Given the description of an element on the screen output the (x, y) to click on. 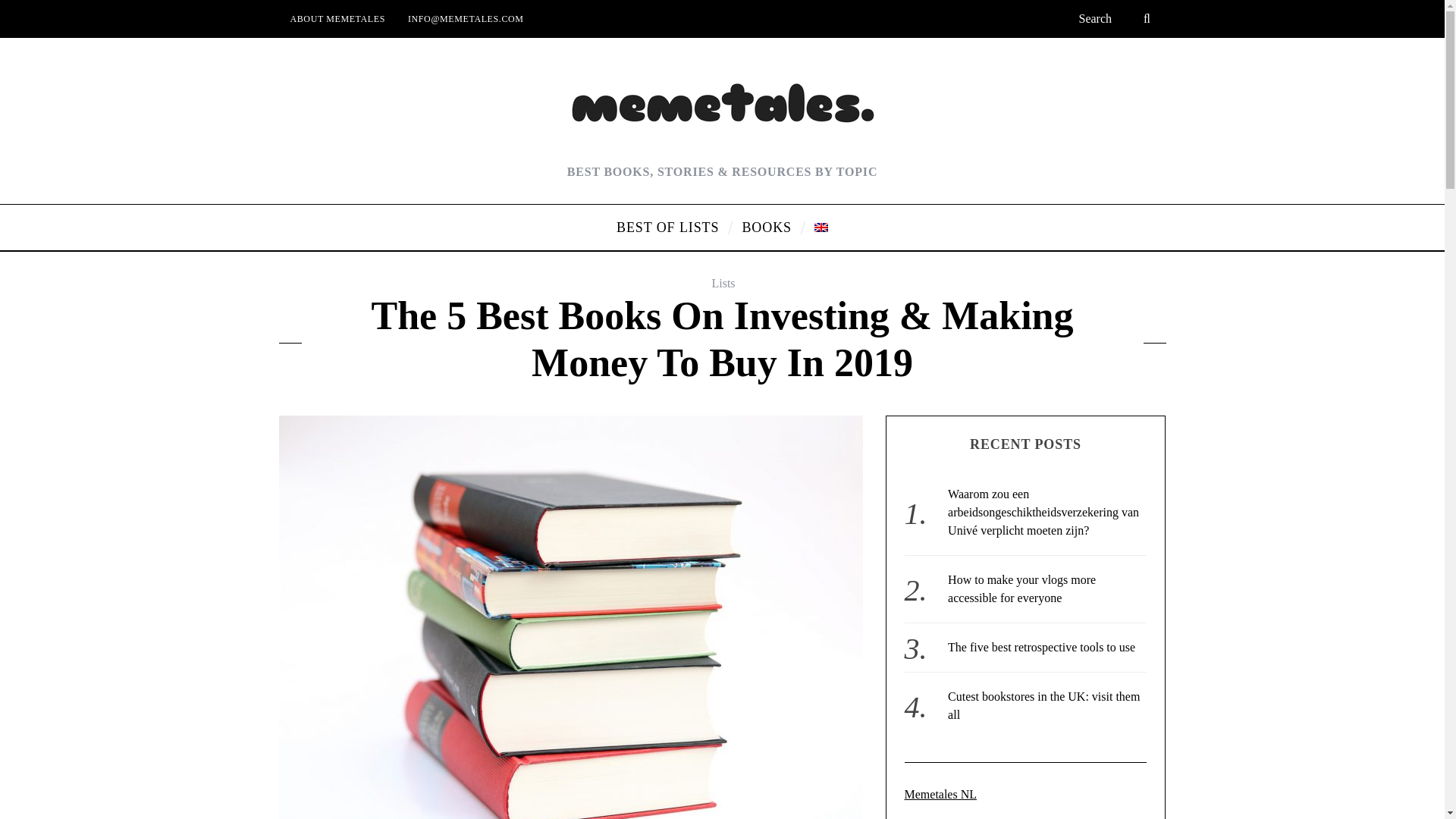
Search (1116, 18)
The five best retrospective tools to use (1041, 646)
How to make your vlogs more accessible for everyone (1021, 588)
Cutest bookstores in the UK: visit them all (1043, 705)
English (820, 226)
ABOUT MEMETALES (337, 18)
BOOKS (766, 227)
Memetales NL (940, 793)
